Given the description of an element on the screen output the (x, y) to click on. 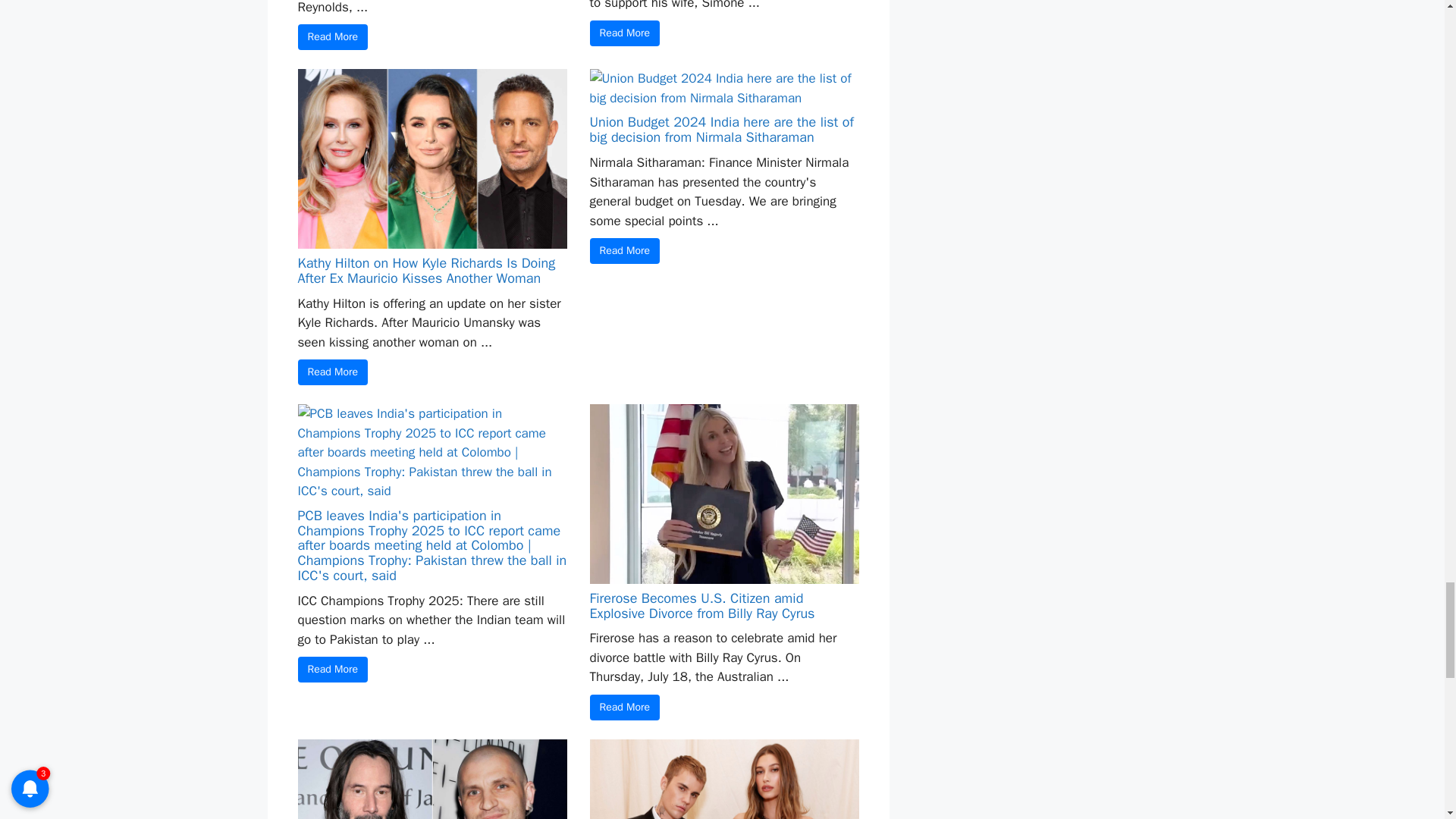
Read More (332, 371)
Read More (332, 36)
Read More (625, 32)
